Given the description of an element on the screen output the (x, y) to click on. 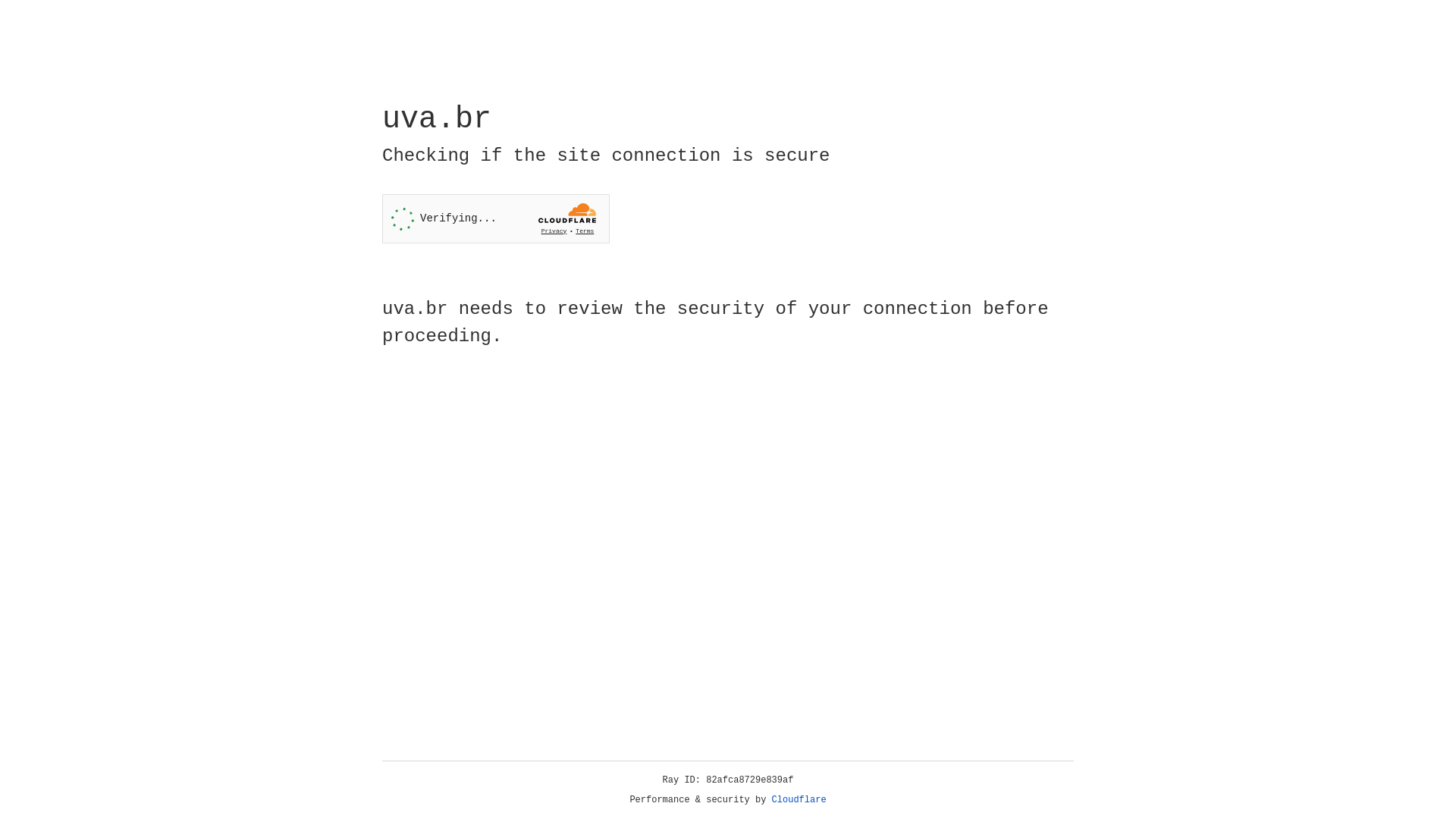
Widget containing a Cloudflare security challenge Element type: hover (495, 218)
Cloudflare Element type: text (798, 799)
